Given the description of an element on the screen output the (x, y) to click on. 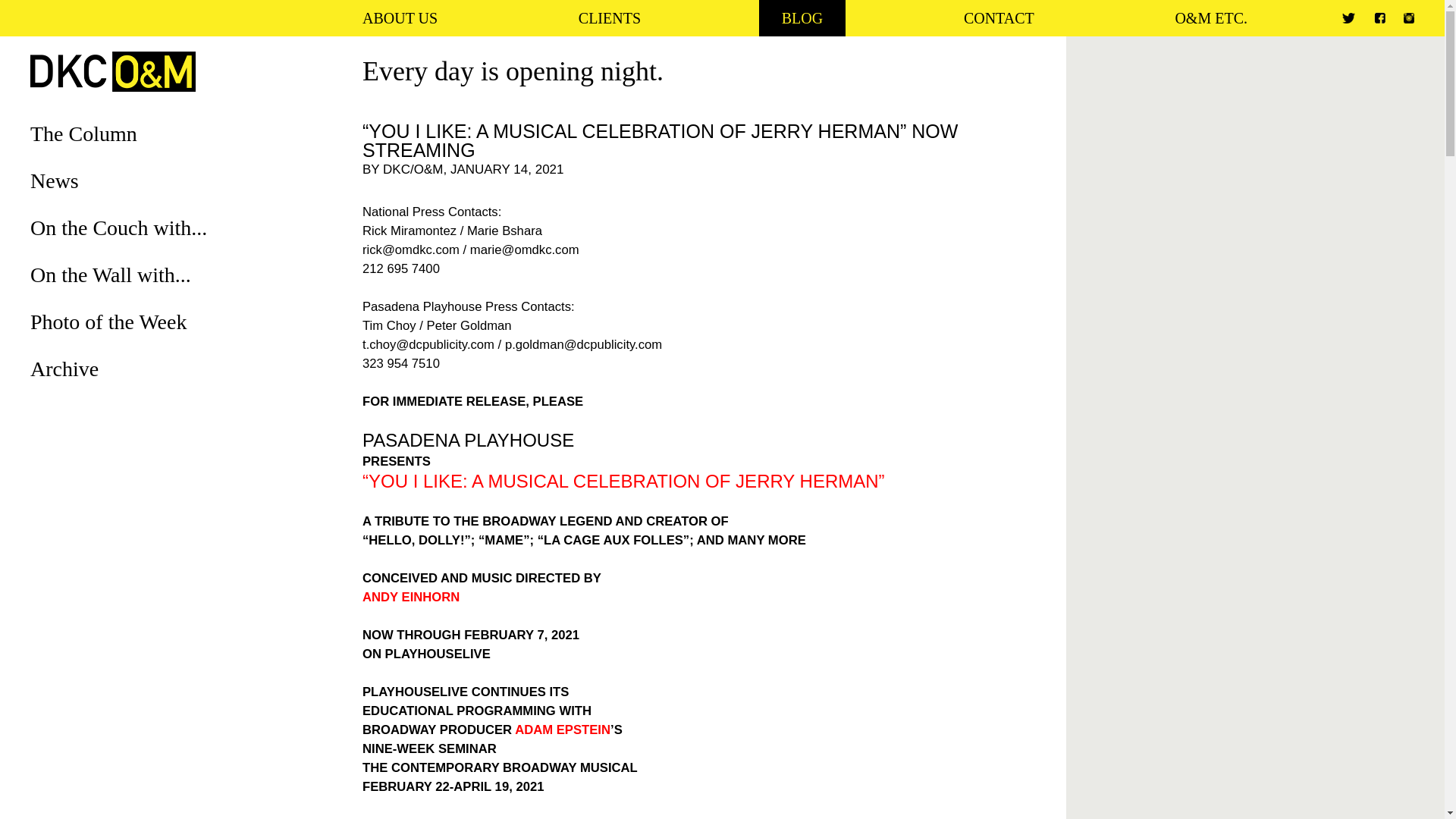
News (54, 180)
The Column (83, 133)
CONTACT (998, 18)
CLIENTS (609, 18)
BLOG (801, 18)
Instagram (1408, 18)
On the Wall with... (110, 274)
Twitter (1348, 18)
On the Couch with... (118, 227)
ABOUT US (399, 18)
